Given the description of an element on the screen output the (x, y) to click on. 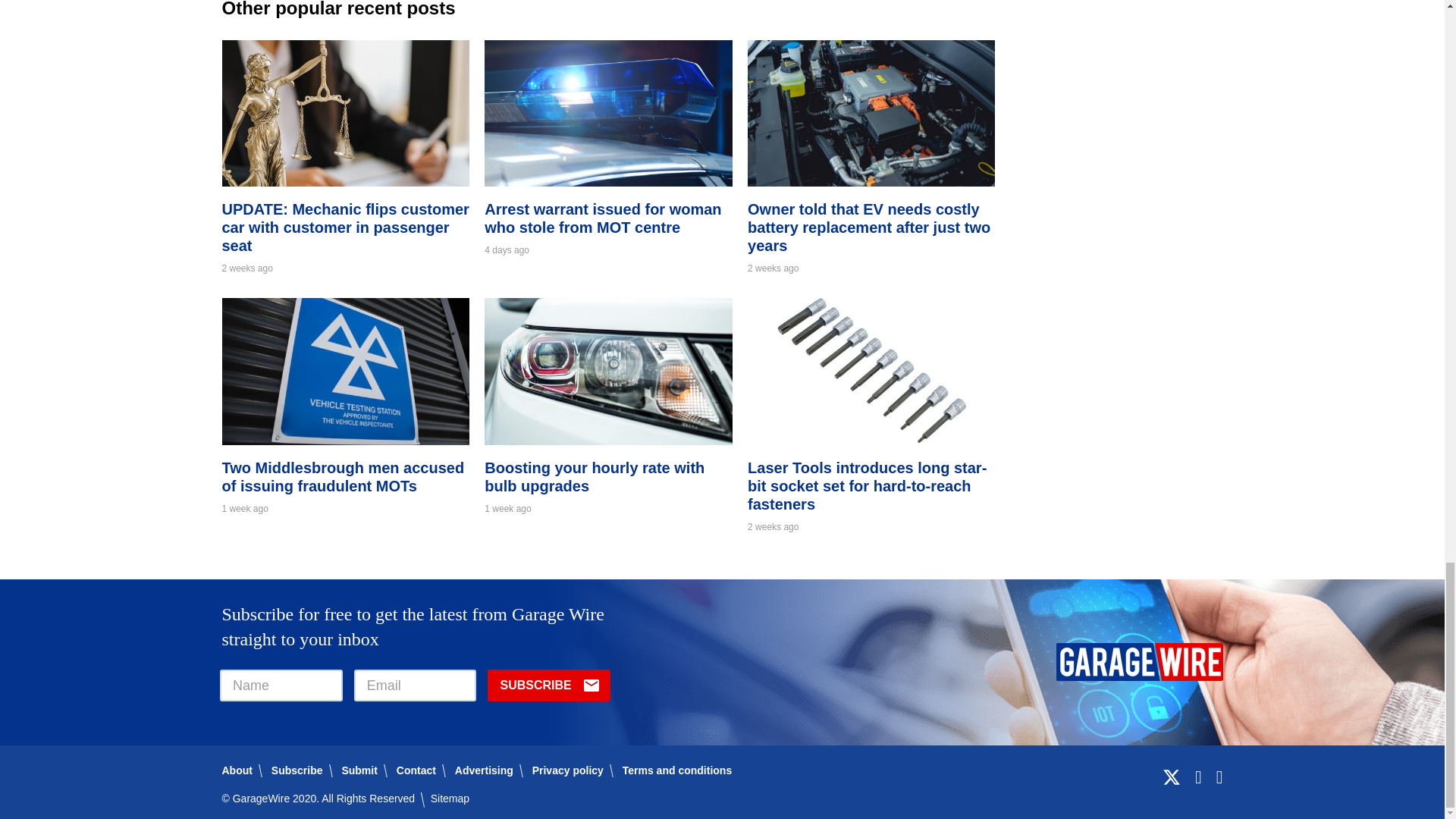
Two Middlesbrough men accused of issuing fraudulent MOTs (344, 440)
Boosting your hourly rate with bulb upgrades (608, 440)
Boosting your hourly rate with bulb upgrades (594, 476)
Arrest warrant issued for woman who stole from MOT centre (608, 181)
Two Middlesbrough men accused of issuing fraudulent MOTs (342, 476)
